Given the description of an element on the screen output the (x, y) to click on. 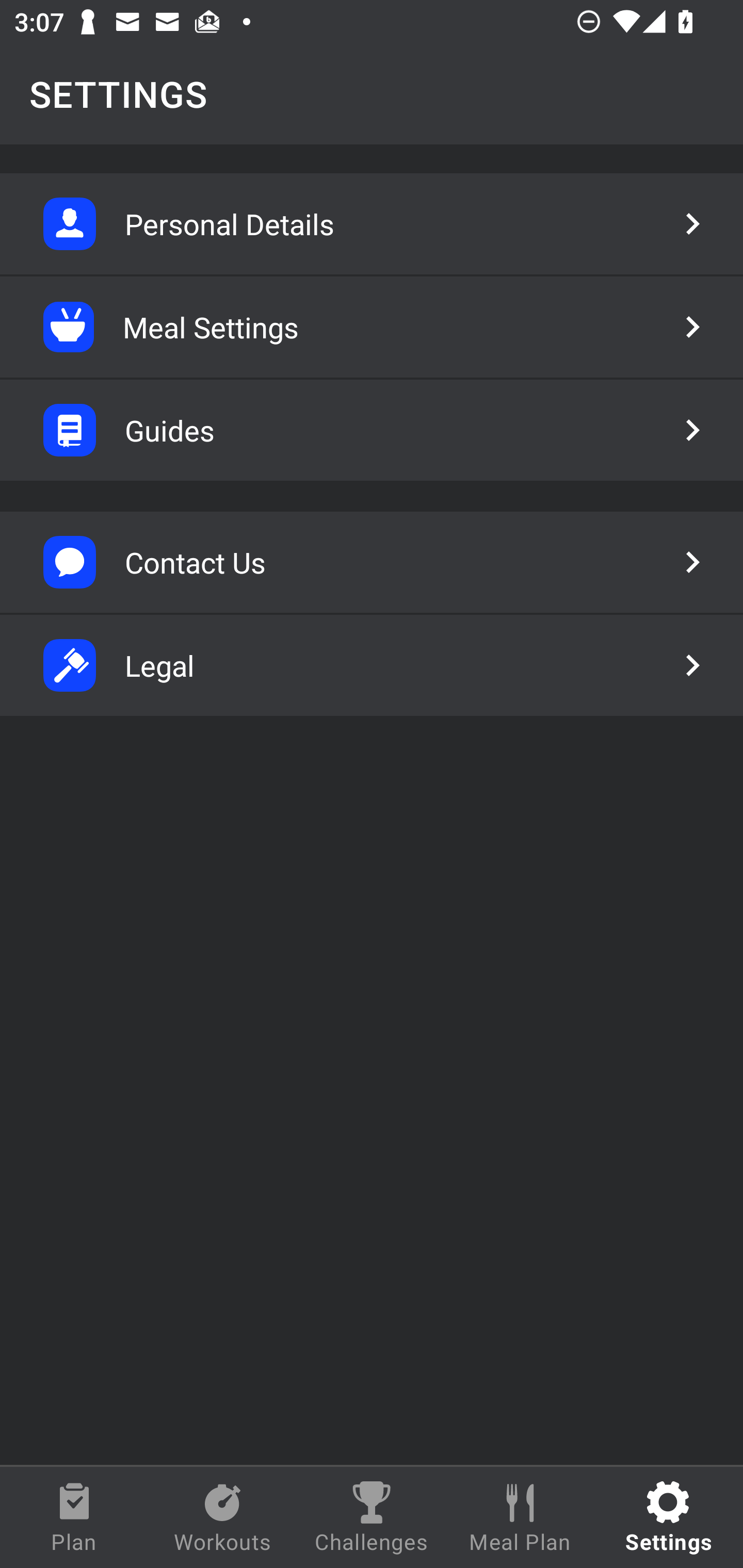
Personal Details (371, 224)
Meal Settings (371, 326)
Guides (371, 430)
Contact Us (371, 562)
Legal (371, 665)
 Plan  (74, 1517)
 Workouts  (222, 1517)
 Challenges  (371, 1517)
 Meal Plan  (519, 1517)
